Given the description of an element on the screen output the (x, y) to click on. 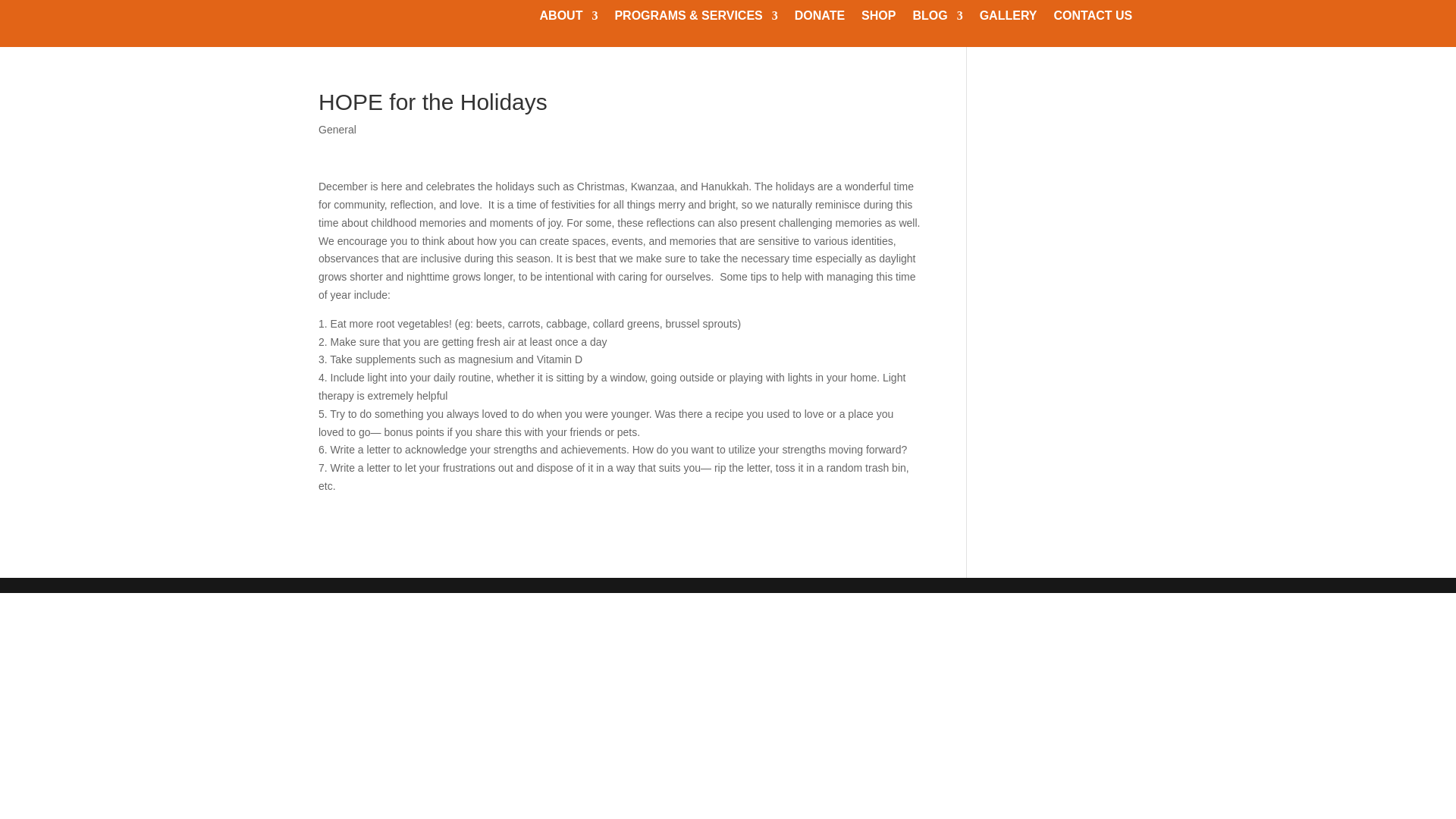
BLOG (937, 18)
GALLERY (1007, 18)
DONATE (819, 18)
General (337, 129)
ABOUT (569, 18)
BLUENWHITE (403, 22)
SHOP (878, 18)
CONTACT US (1093, 18)
